Given the description of an element on the screen output the (x, y) to click on. 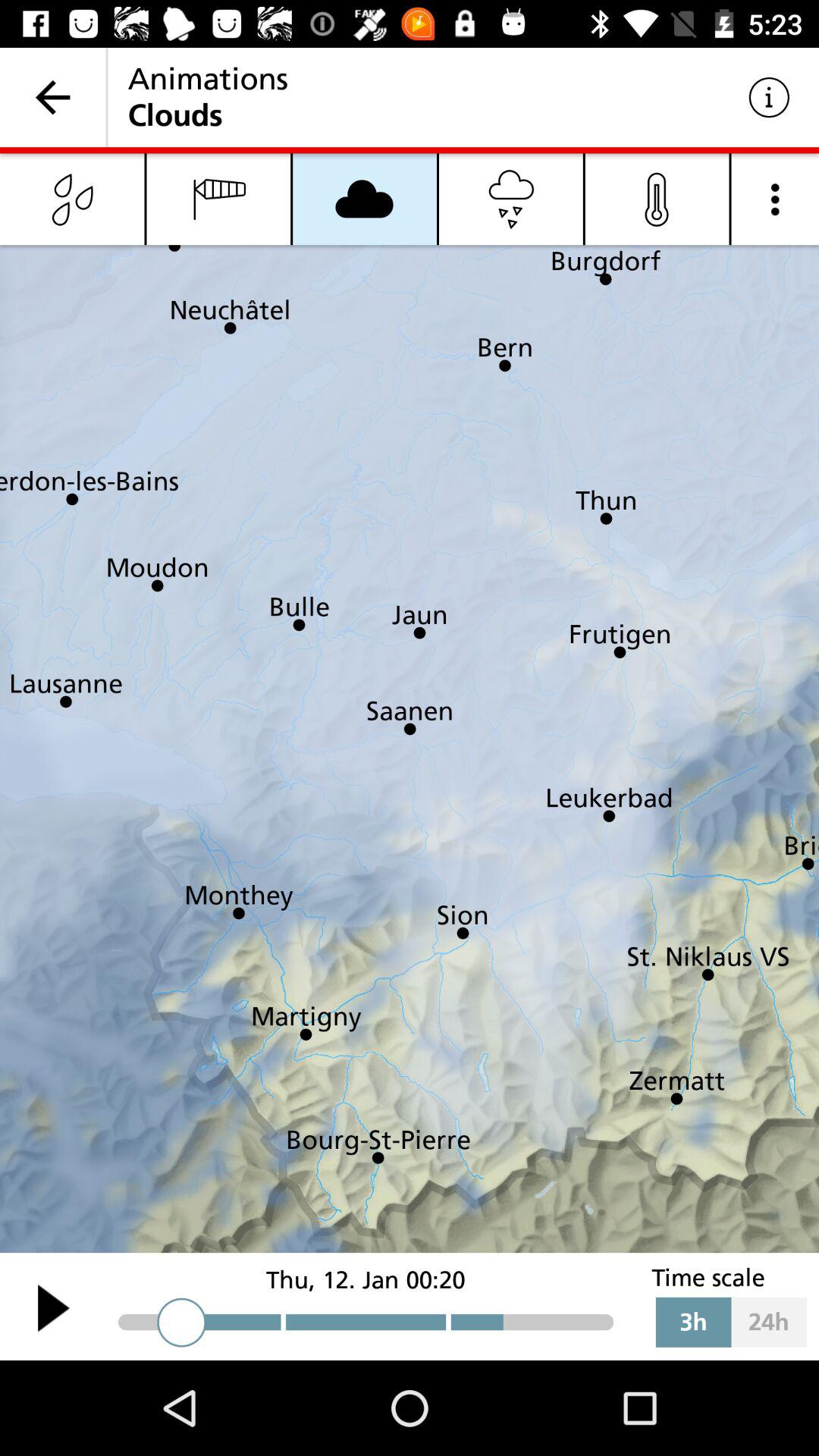
go to meun (775, 199)
